Given the description of an element on the screen output the (x, y) to click on. 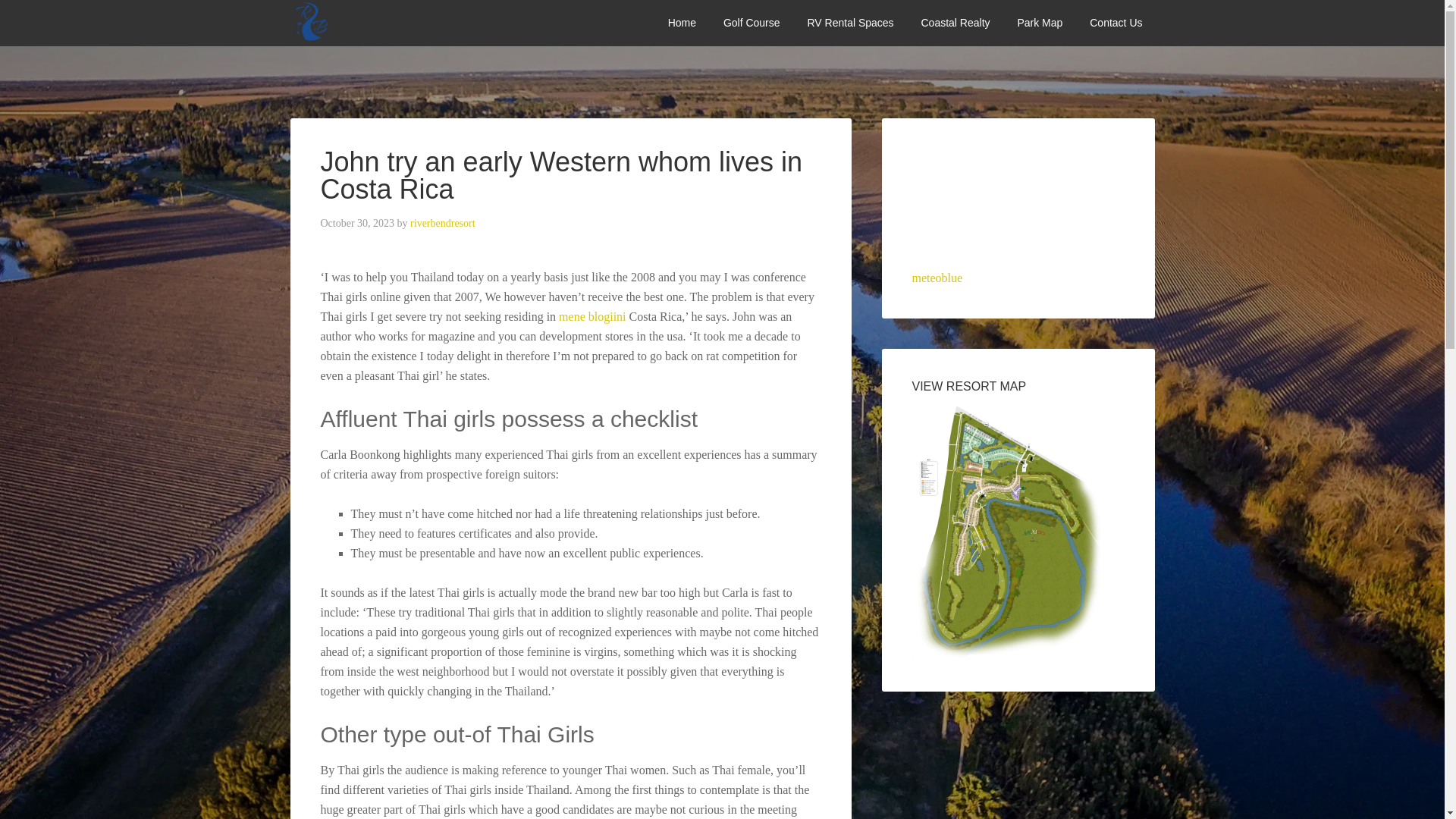
Coastal Realty (954, 22)
meteoblue (936, 277)
Park Map (1039, 22)
mene blogiini (592, 316)
Golf Course (751, 22)
RV Rental Spaces (849, 22)
Home (681, 22)
riverbendresort (443, 223)
Contact Us (1115, 22)
